Given the description of an element on the screen output the (x, y) to click on. 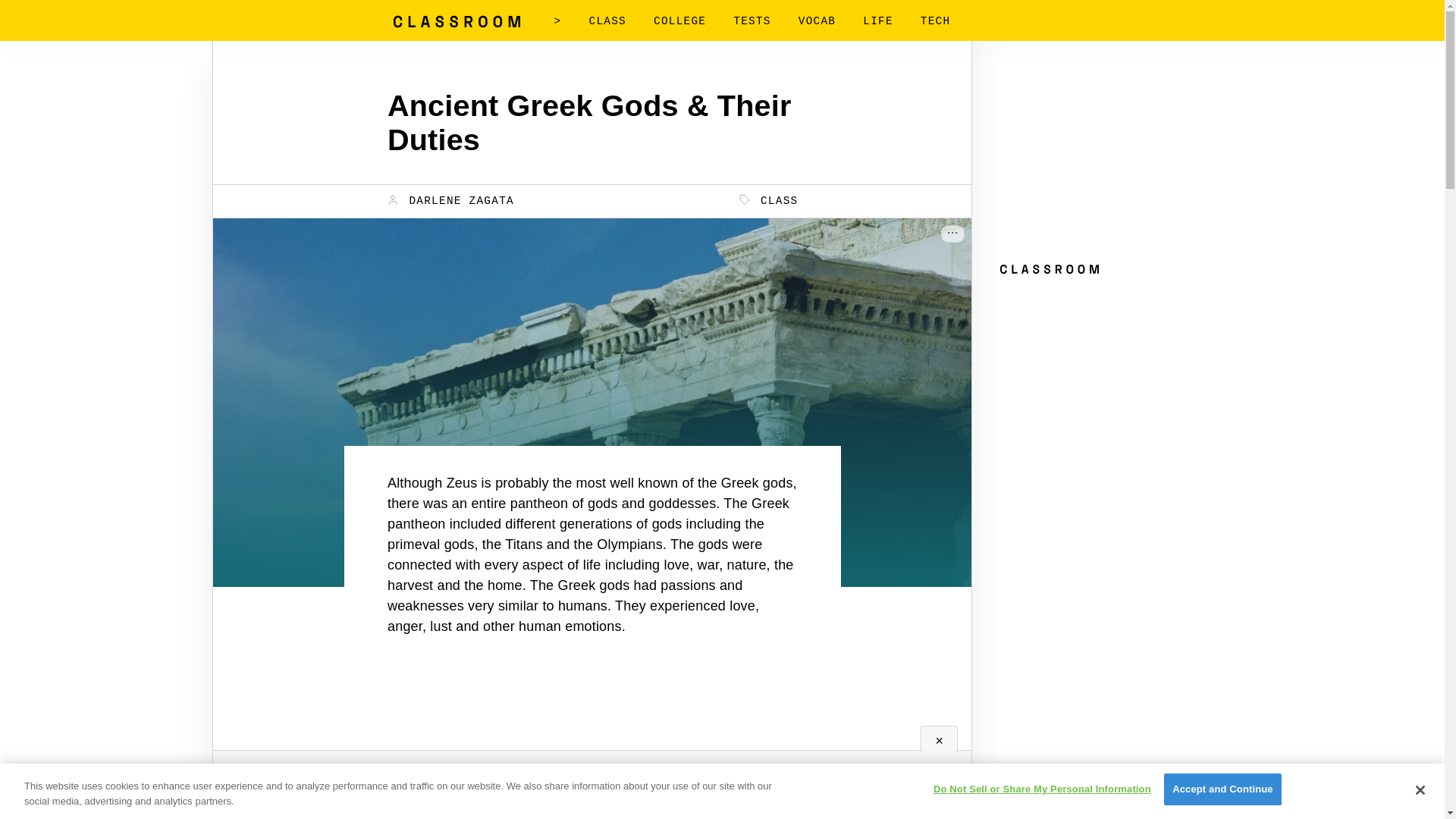
COLLEGE (679, 21)
VOCAB (816, 21)
3rd party ad content (592, 755)
3rd party ad content (1108, 376)
CLASS (607, 21)
LIFE (878, 21)
TECH (935, 21)
TESTS (751, 21)
3rd party ad content (1108, 158)
CLASS (768, 200)
